Given the description of an element on the screen output the (x, y) to click on. 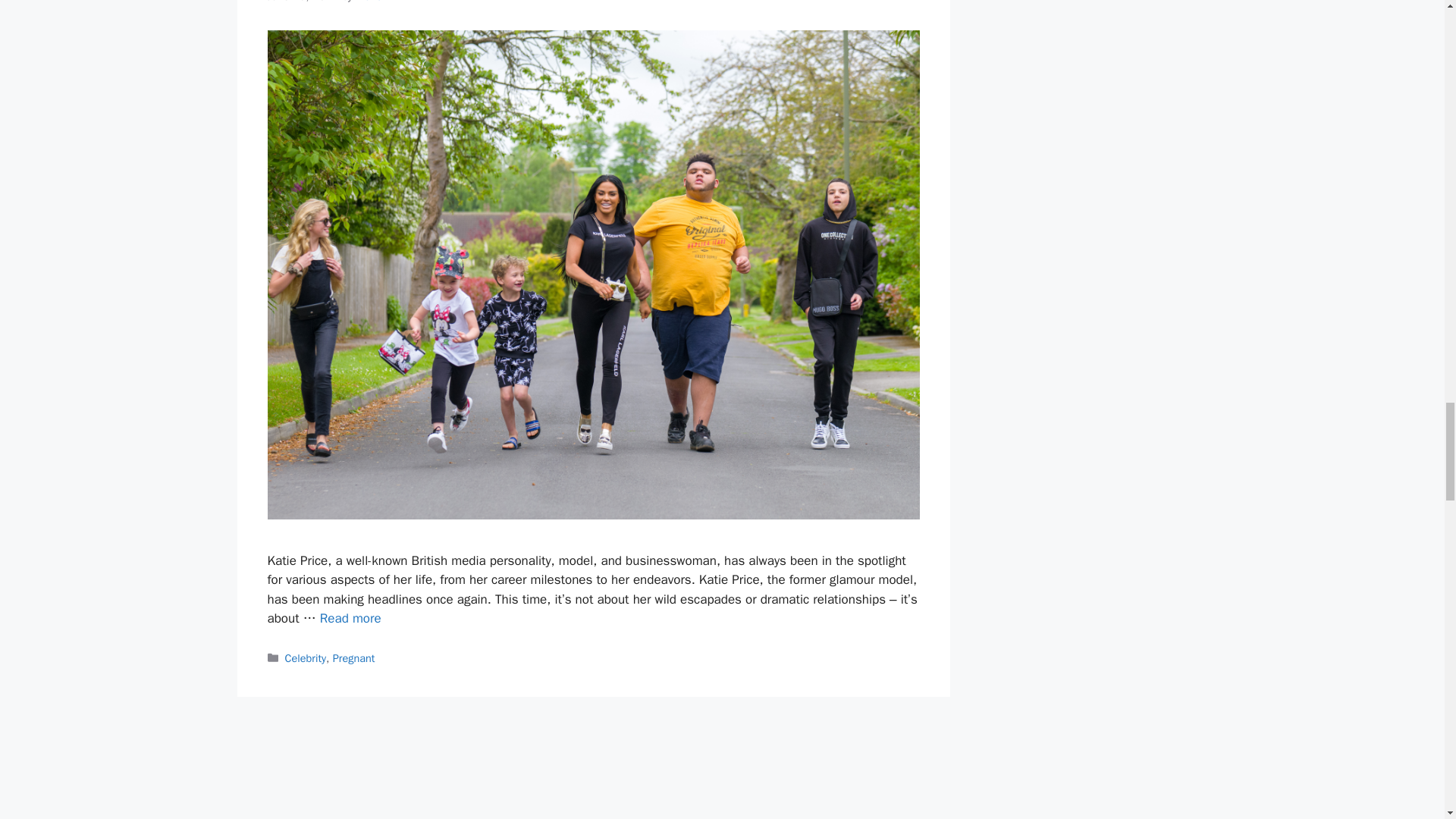
Mansi (369, 1)
View all posts by Mansi (369, 1)
